Given the description of an element on the screen output the (x, y) to click on. 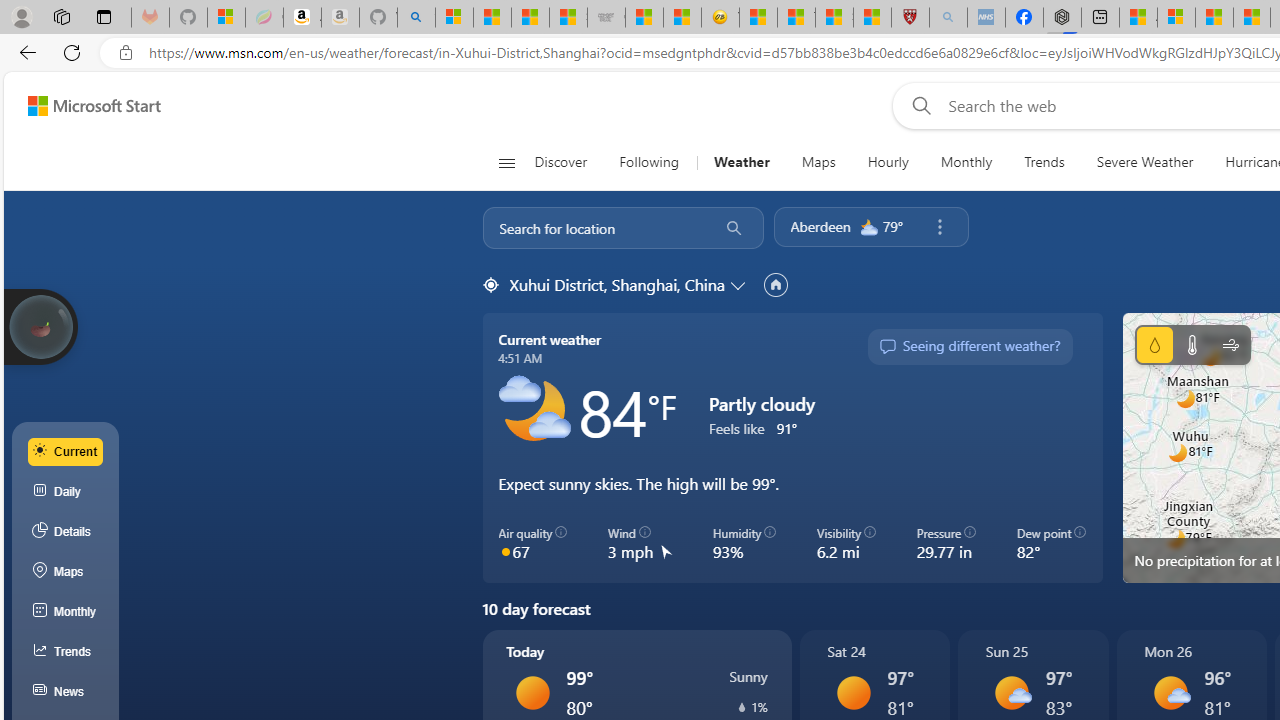
Trends (1044, 162)
Trends (1044, 162)
Severe Weather (1144, 162)
Aberdeen (820, 226)
Set as primary location (775, 284)
Search for location (594, 227)
